Given the description of an element on the screen output the (x, y) to click on. 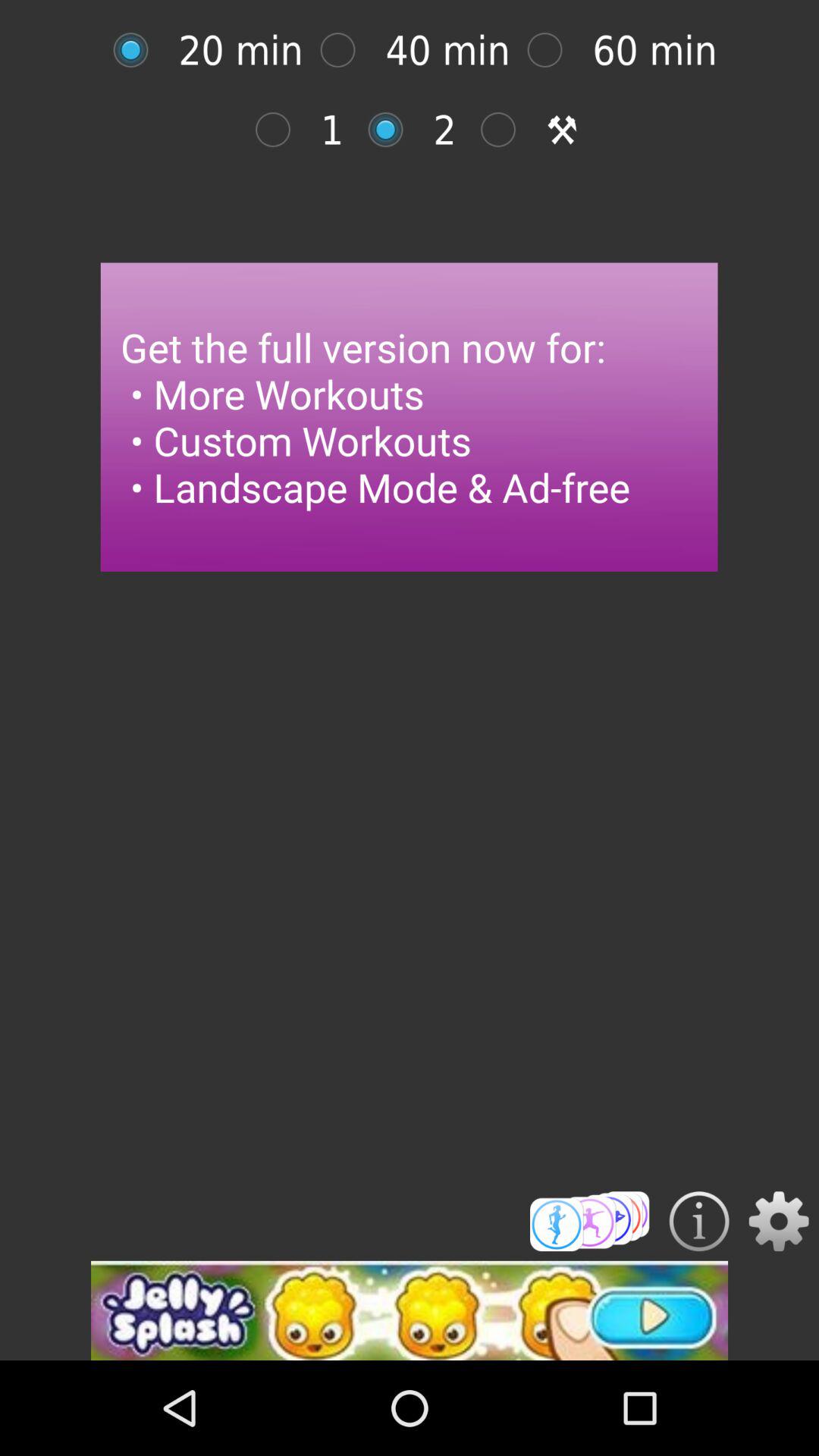
takes you to app tools (506, 129)
